Given the description of an element on the screen output the (x, y) to click on. 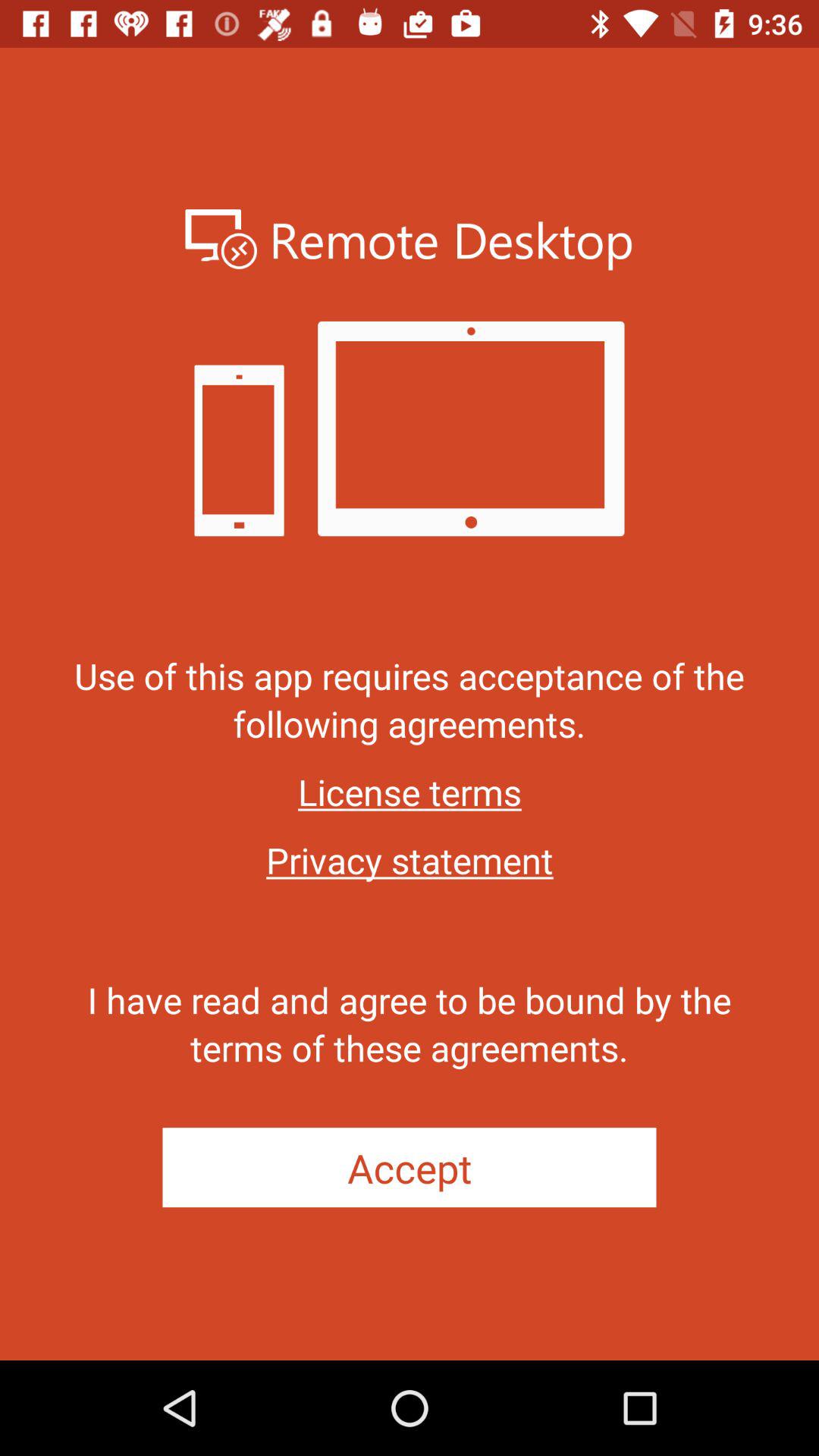
tap license terms icon (409, 791)
